Given the description of an element on the screen output the (x, y) to click on. 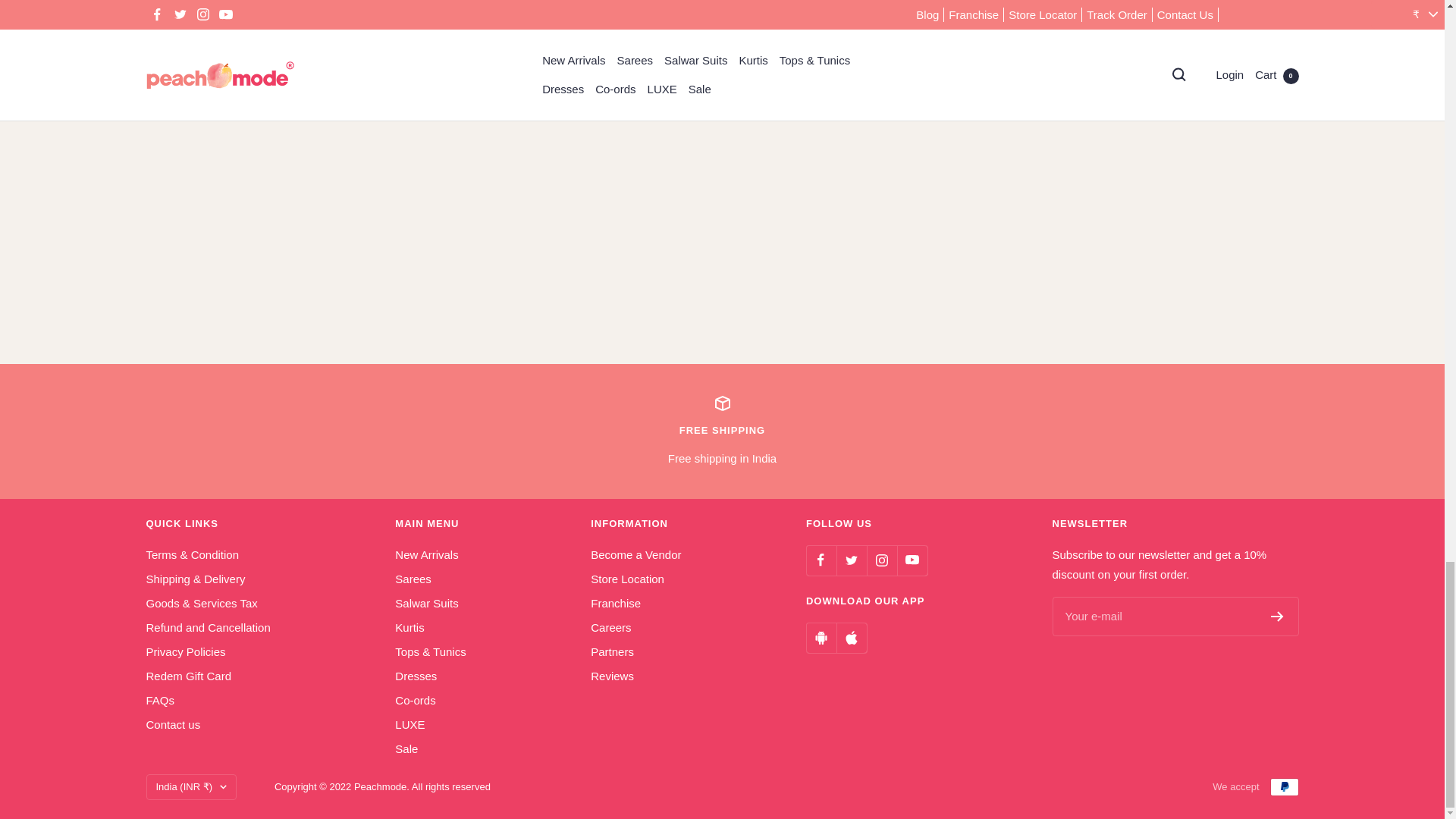
Register (721, 430)
